Given the description of an element on the screen output the (x, y) to click on. 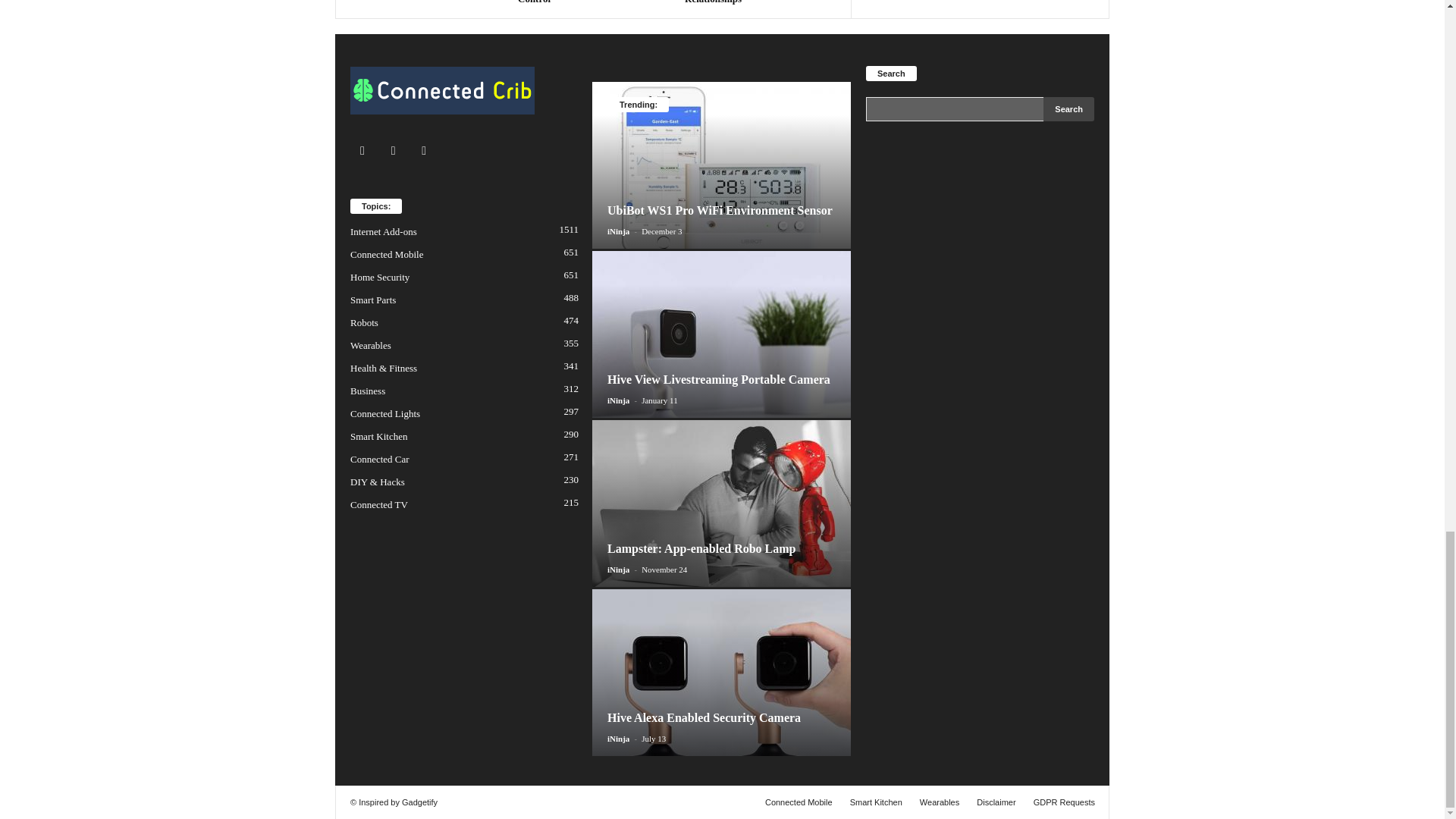
Search (1068, 109)
